Given the description of an element on the screen output the (x, y) to click on. 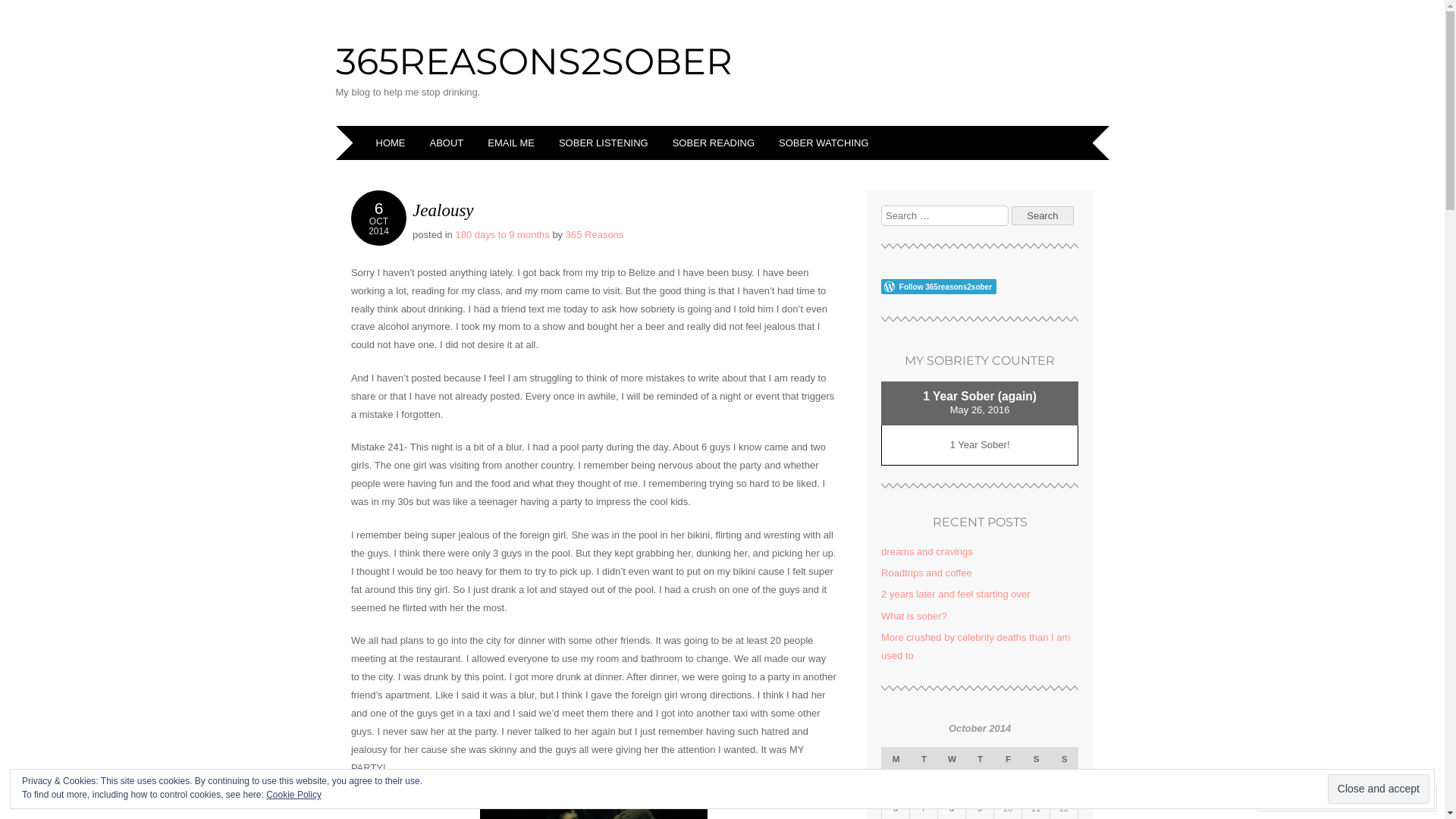
SOBER LISTENING Element type: text (605, 142)
180 days to 9 months Element type: text (502, 234)
Comment Element type: text (1297, 797)
More crushed by celebrity deaths than I am used to Element type: text (975, 645)
What is sober? Element type: text (914, 615)
EMAIL ME Element type: text (513, 142)
365 Reasons Element type: text (594, 234)
HOME Element type: text (392, 142)
Follow Element type: text (1373, 797)
Roadtrips and coffee Element type: text (926, 572)
6 Element type: text (895, 807)
2 years later and feel starting over Element type: text (955, 593)
Follow Button Element type: hover (979, 286)
Close and accept Element type: text (1378, 788)
dreams and cravings Element type: text (926, 551)
Cookie Policy Element type: text (293, 794)
8 Element type: text (951, 807)
6
OCT
2014 Element type: text (378, 217)
ABOUT Element type: text (449, 142)
365REASONS2SOBER Element type: text (533, 61)
SOBER WATCHING Element type: text (825, 142)
SOBER READING Element type: text (715, 142)
Search Element type: text (1042, 215)
9 Element type: text (979, 807)
